Given the description of an element on the screen output the (x, y) to click on. 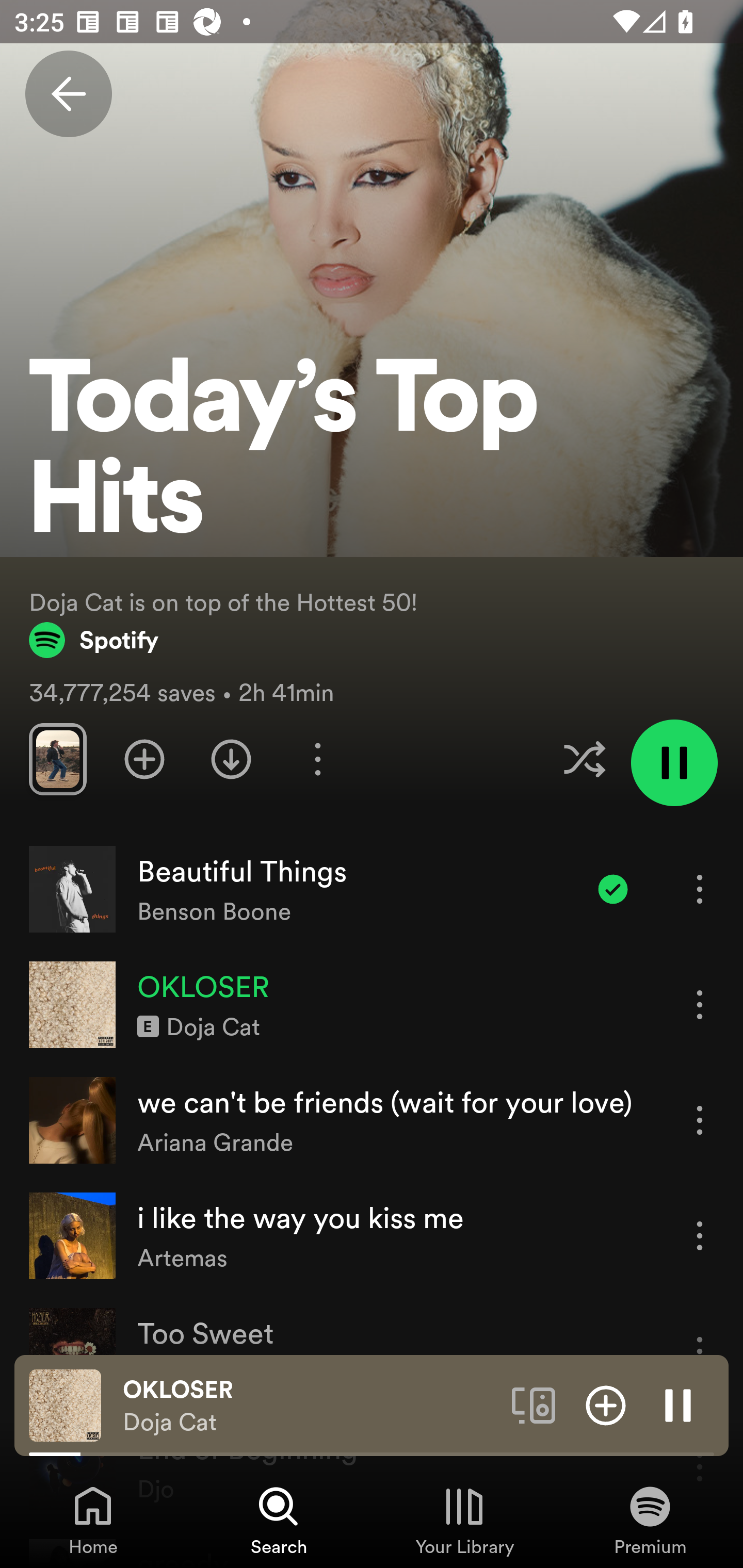
Back (68, 93)
Spotify (93, 640)
Swipe through previews of tracks in this playlist. (57, 759)
Add playlist to Your Library (144, 759)
Download (230, 759)
More options for playlist Today’s Top Hits (317, 759)
Enable shuffle for this playlist (583, 759)
Pause playlist (674, 762)
Item added (612, 888)
More options for song Beautiful Things (699, 888)
More options for song OKLOSER (699, 1004)
More options for song i like the way you kiss me (699, 1236)
Too Sweet Hozier More options for song Too Sweet (371, 1351)
OKLOSER Doja Cat (309, 1405)
